Given the description of an element on the screen output the (x, y) to click on. 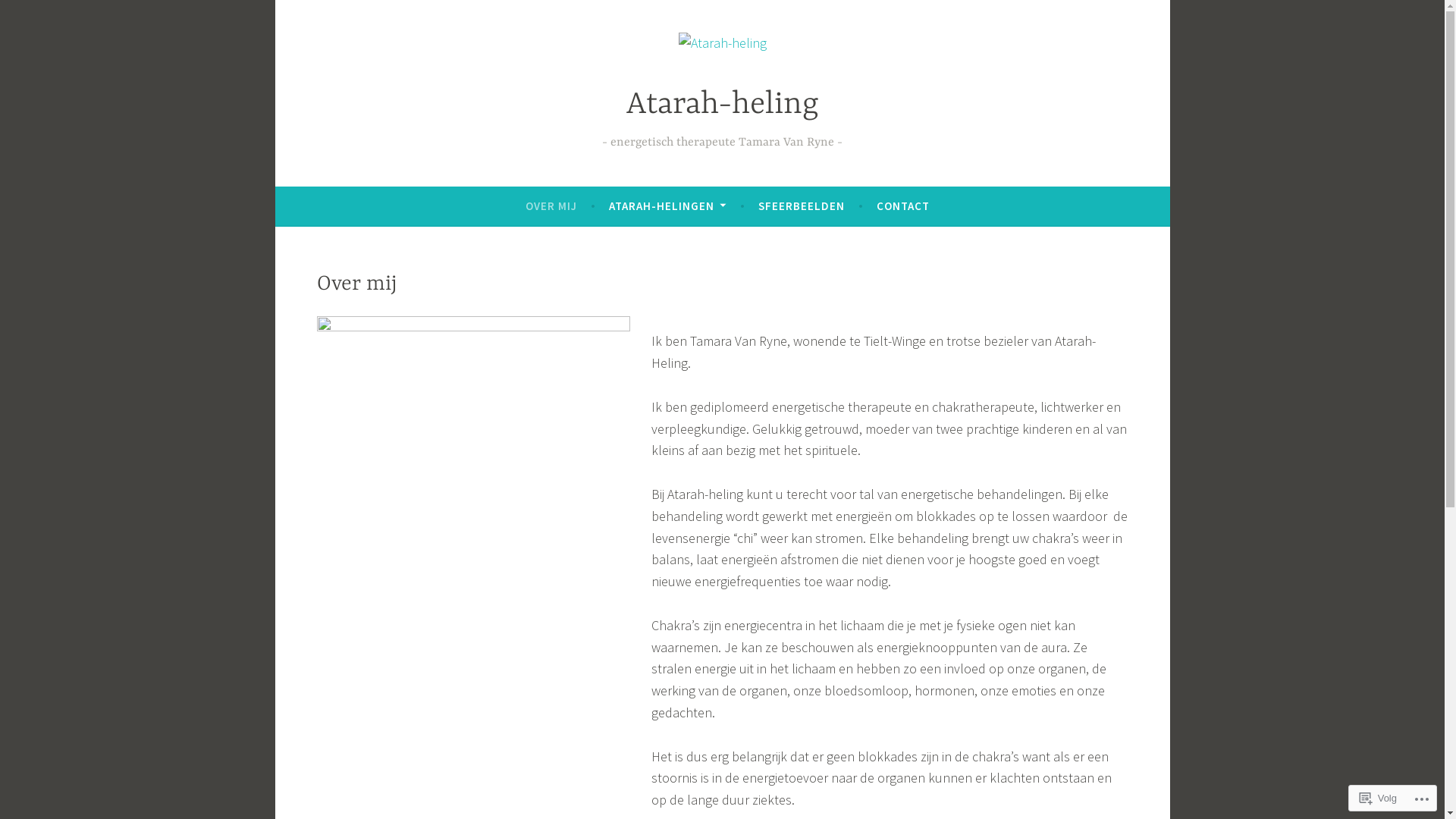
Atarah-heling Element type: text (722, 104)
Volg Element type: text (1377, 797)
OVER MIJ Element type: text (551, 205)
CONTACT Element type: text (902, 205)
SFEERBEELDEN Element type: text (801, 205)
ATARAH-HELINGEN Element type: text (666, 205)
